Given the description of an element on the screen output the (x, y) to click on. 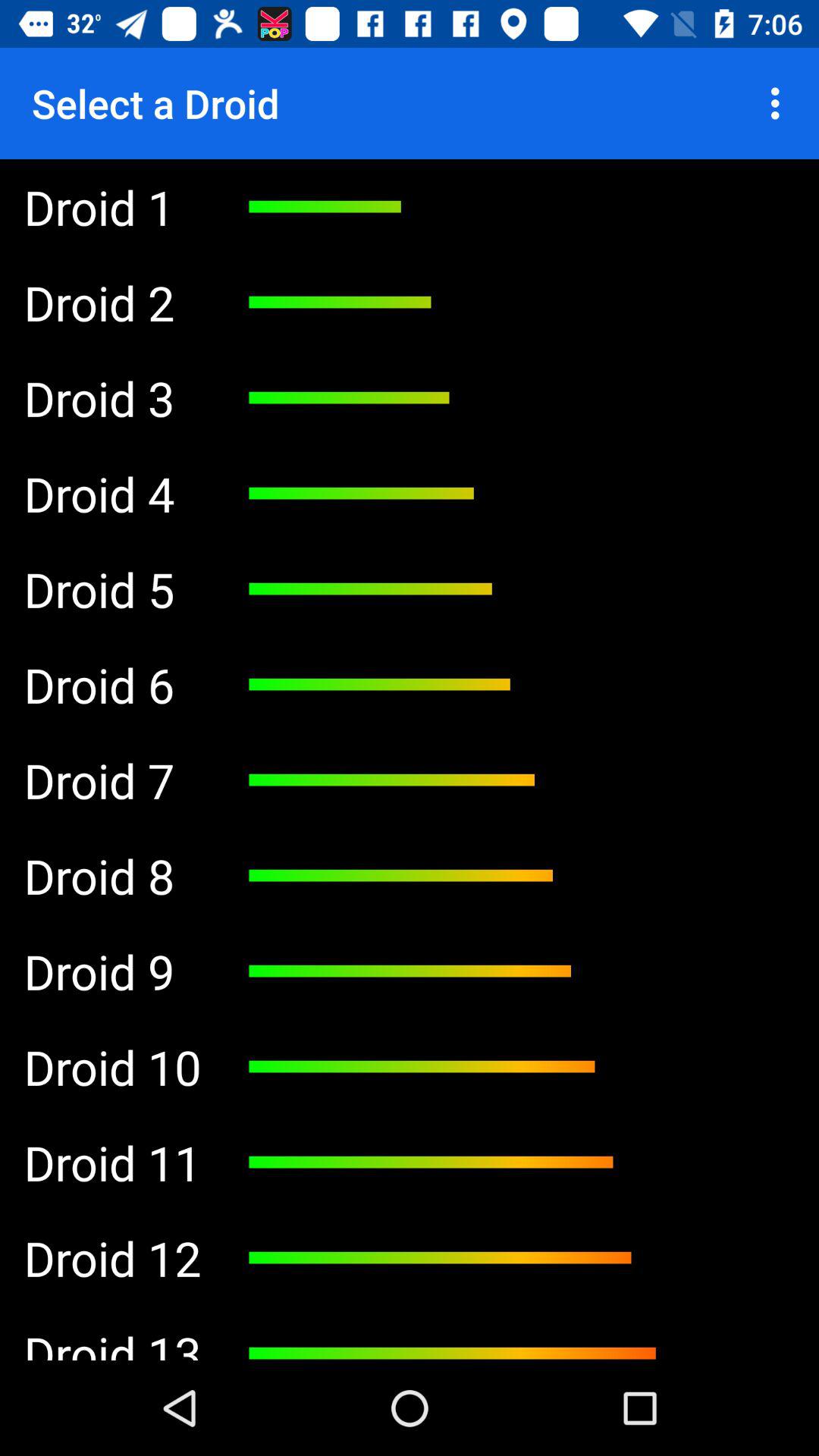
scroll to the droid 8 app (112, 875)
